Given the description of an element on the screen output the (x, y) to click on. 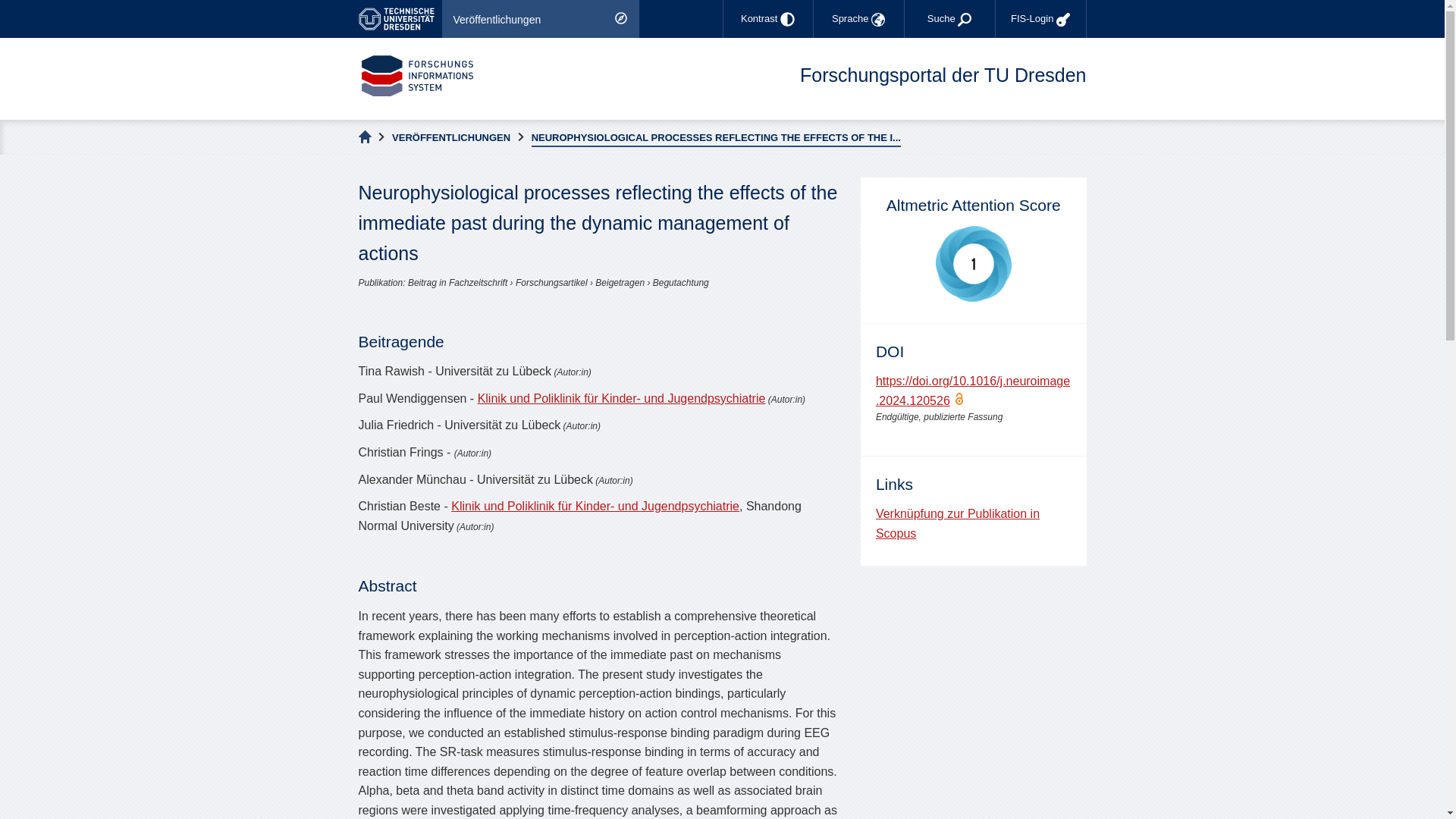
Kontrast (767, 18)
FIS-Login (1040, 18)
Globale Suche umschalten (949, 18)
Suche (949, 18)
, Externer Link (399, 18)
Sprache (858, 18)
Sprachauswahl umschalten (858, 18)
